Given the description of an element on the screen output the (x, y) to click on. 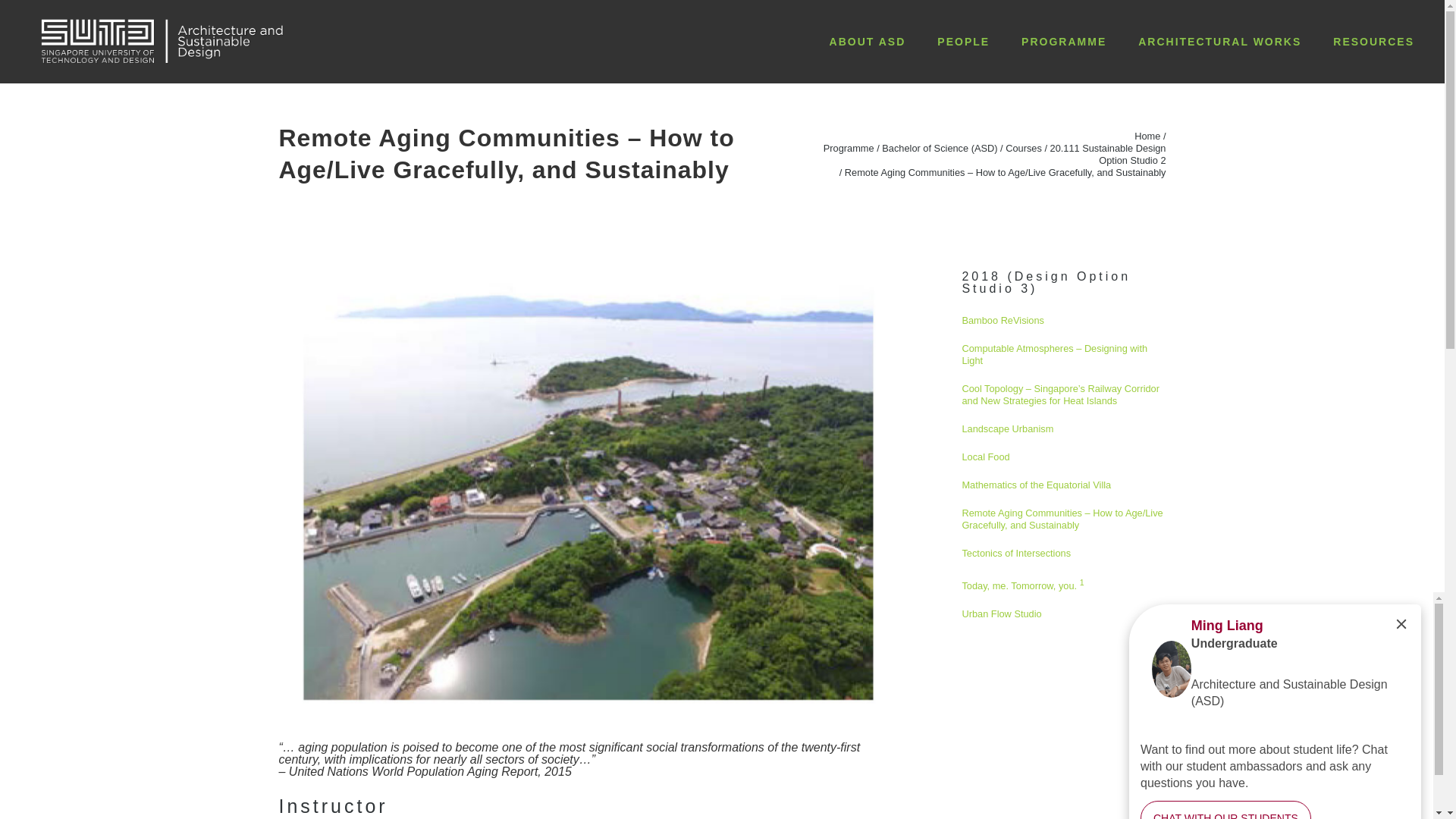
ABOUT ASD (867, 41)
PROGRAMME (1064, 41)
